Given the description of an element on the screen output the (x, y) to click on. 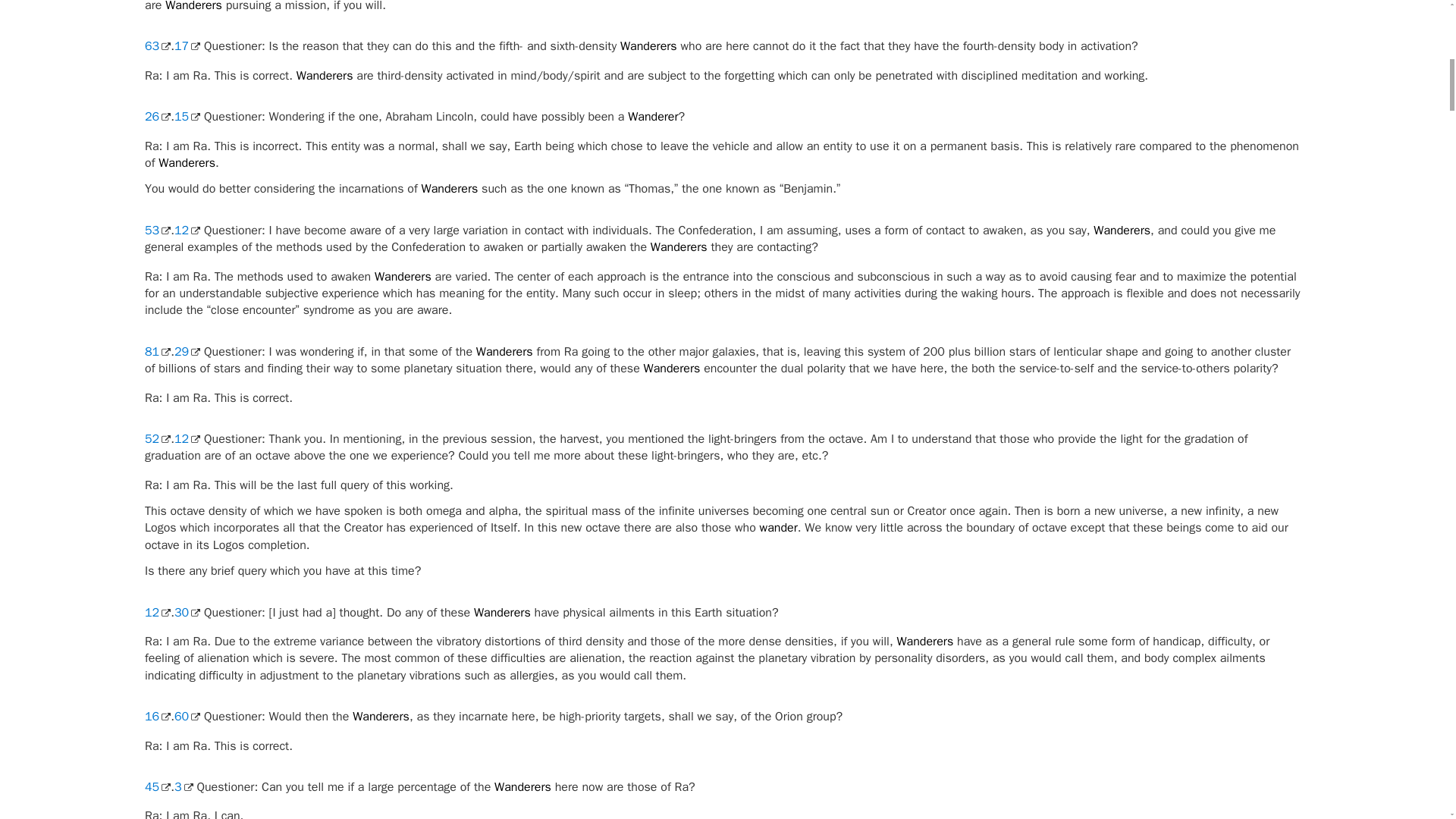
15 (187, 116)
12 (187, 230)
81 (157, 351)
26 (157, 116)
53 (157, 230)
63 (157, 46)
17 (187, 46)
